Given the description of an element on the screen output the (x, y) to click on. 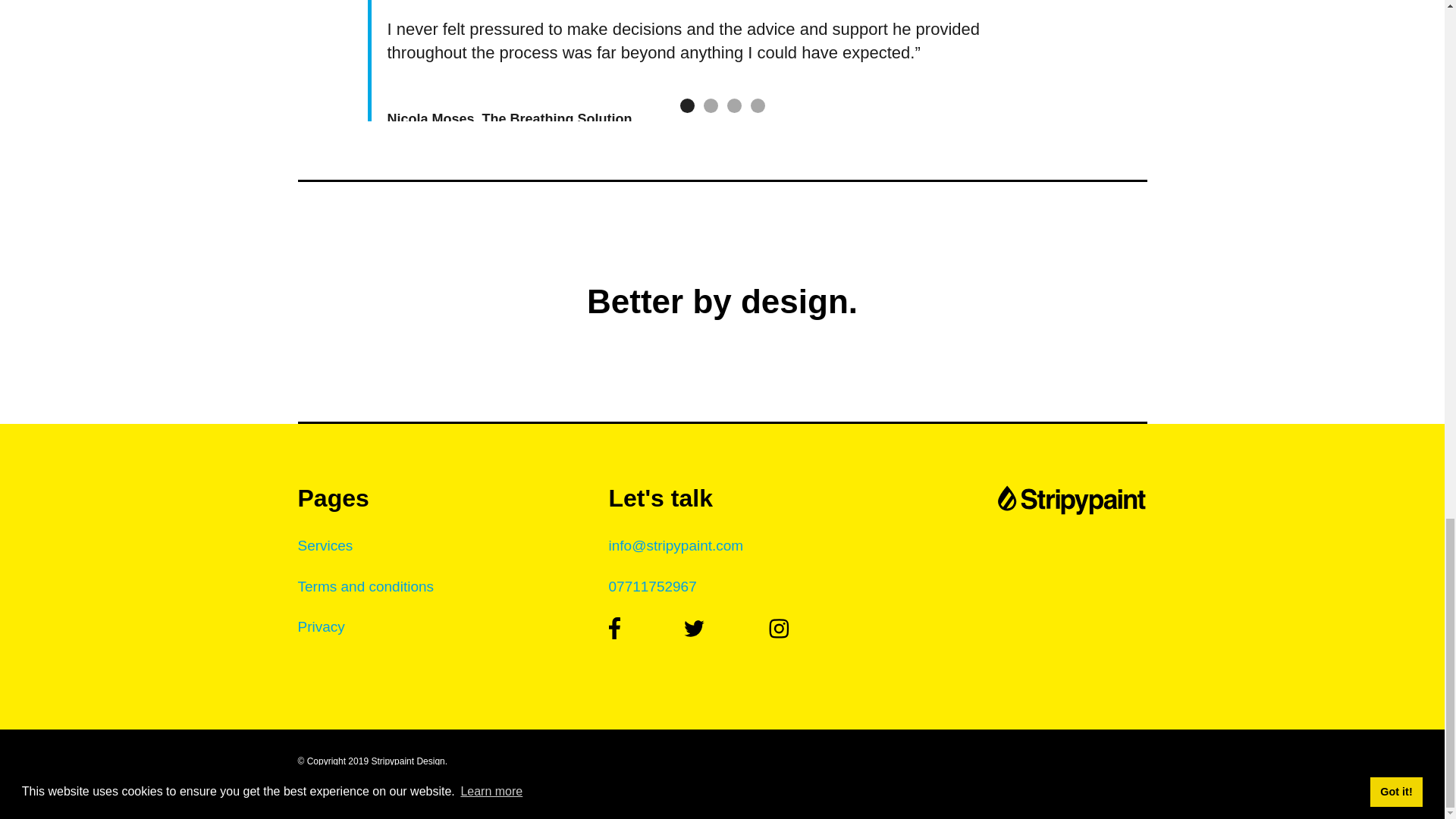
Services (410, 554)
Privacy (410, 635)
Terms and conditions (410, 595)
07711752967 (721, 595)
